Given the description of an element on the screen output the (x, y) to click on. 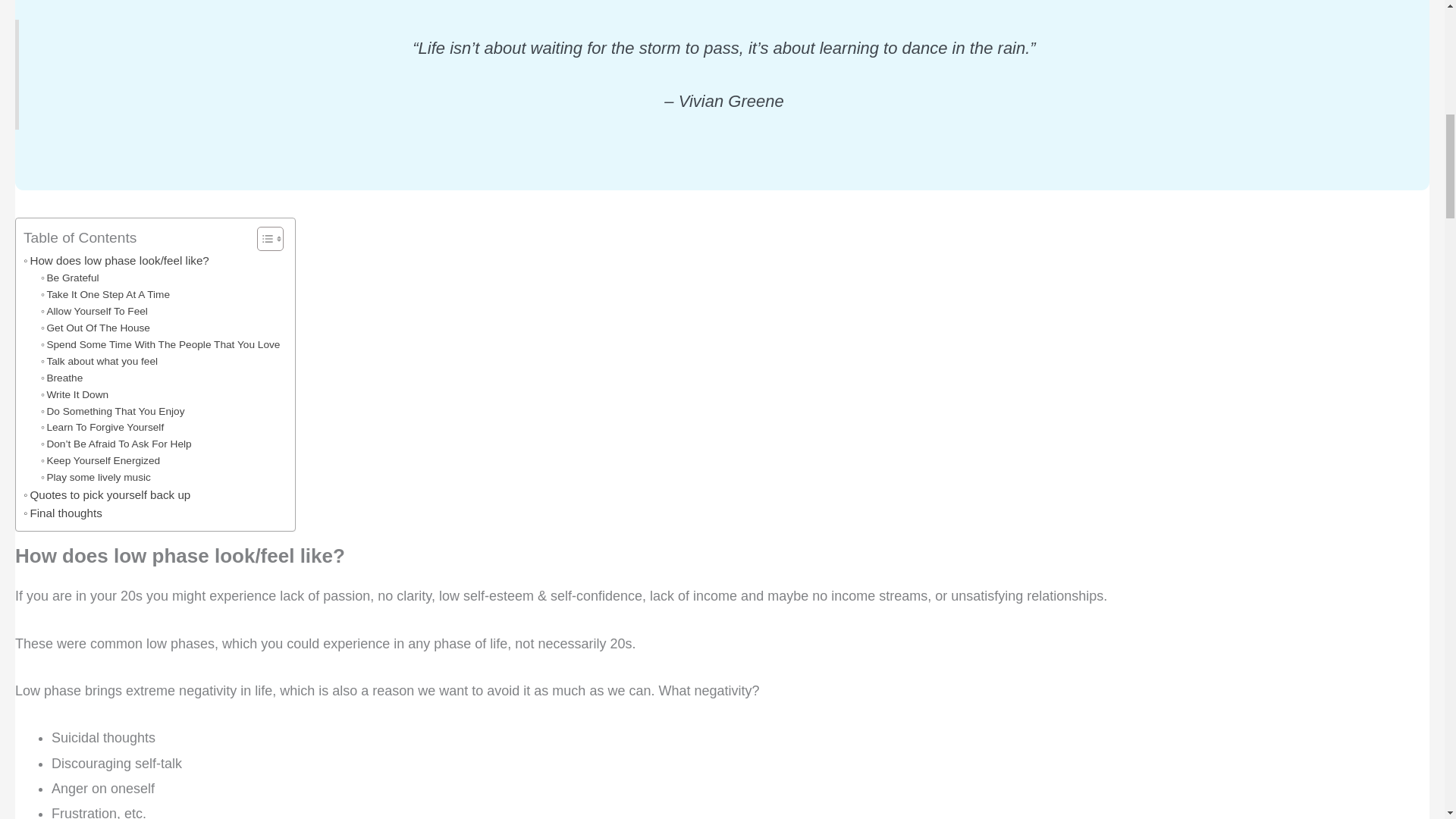
Write It Down (73, 394)
Take It One Step At A Time (105, 294)
Take It One Step At A Time (105, 294)
Breathe (61, 378)
Get Out Of The House (94, 328)
Be Grateful (69, 278)
Keep Yourself Energized (100, 460)
Talk about what you feel (98, 361)
Get Out Of The House (94, 328)
Learn To Forgive Yourself (101, 427)
Play some lively music (95, 477)
Spend Some Time With The People That You Love (160, 344)
Spend Some Time With The People That You Love (160, 344)
Play some lively music (95, 477)
Keep Yourself Energized (100, 460)
